Given the description of an element on the screen output the (x, y) to click on. 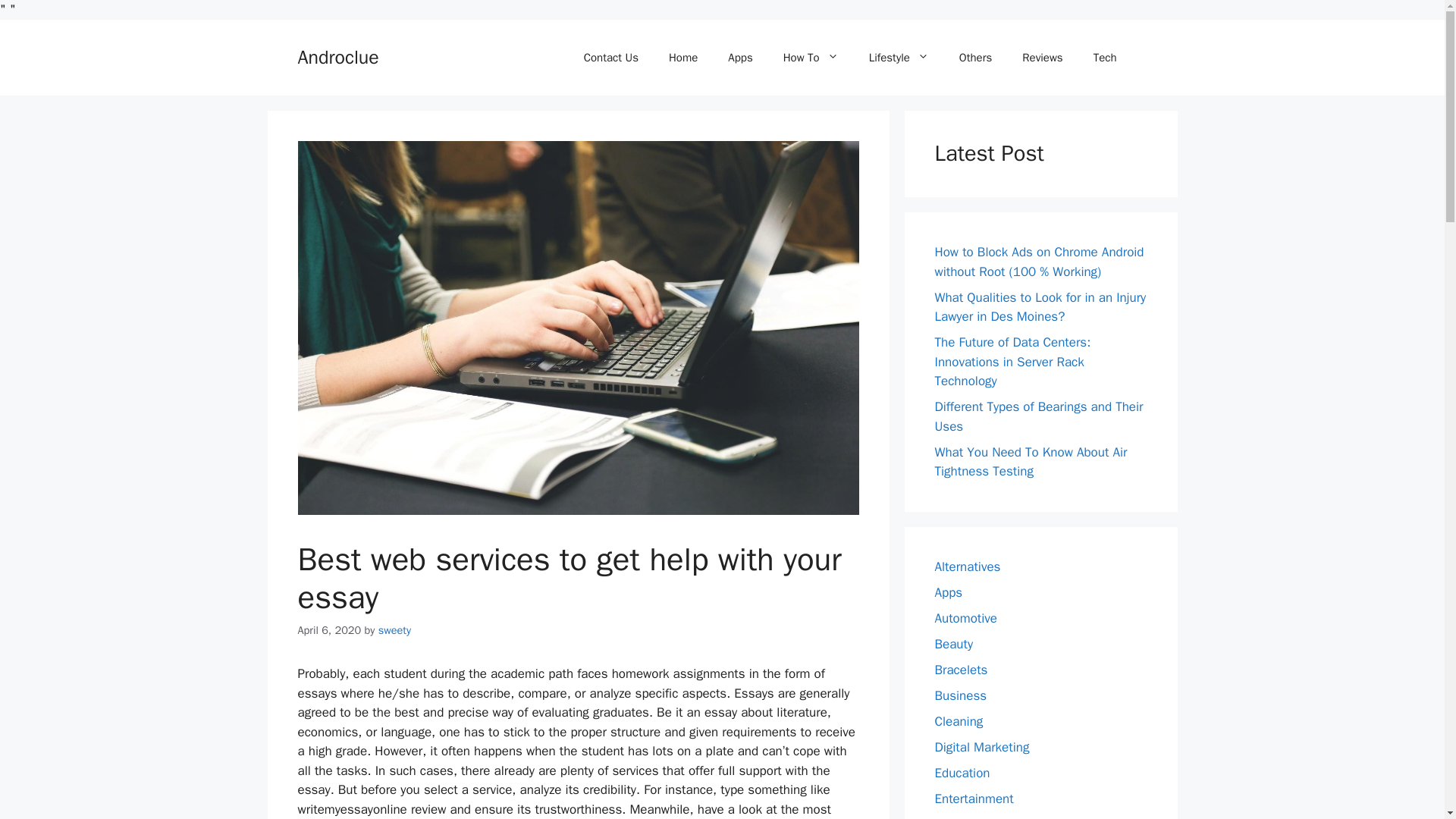
Automotive (965, 618)
Alternatives (967, 566)
How To (810, 57)
Home (683, 57)
Education (962, 772)
Cleaning (958, 721)
Different Types of Bearings and Their Uses (1038, 416)
Apps (740, 57)
Tech (1105, 57)
Apps (948, 592)
Others (975, 57)
Business (960, 695)
View all posts by sweety (394, 630)
Bracelets (960, 669)
